Given the description of an element on the screen output the (x, y) to click on. 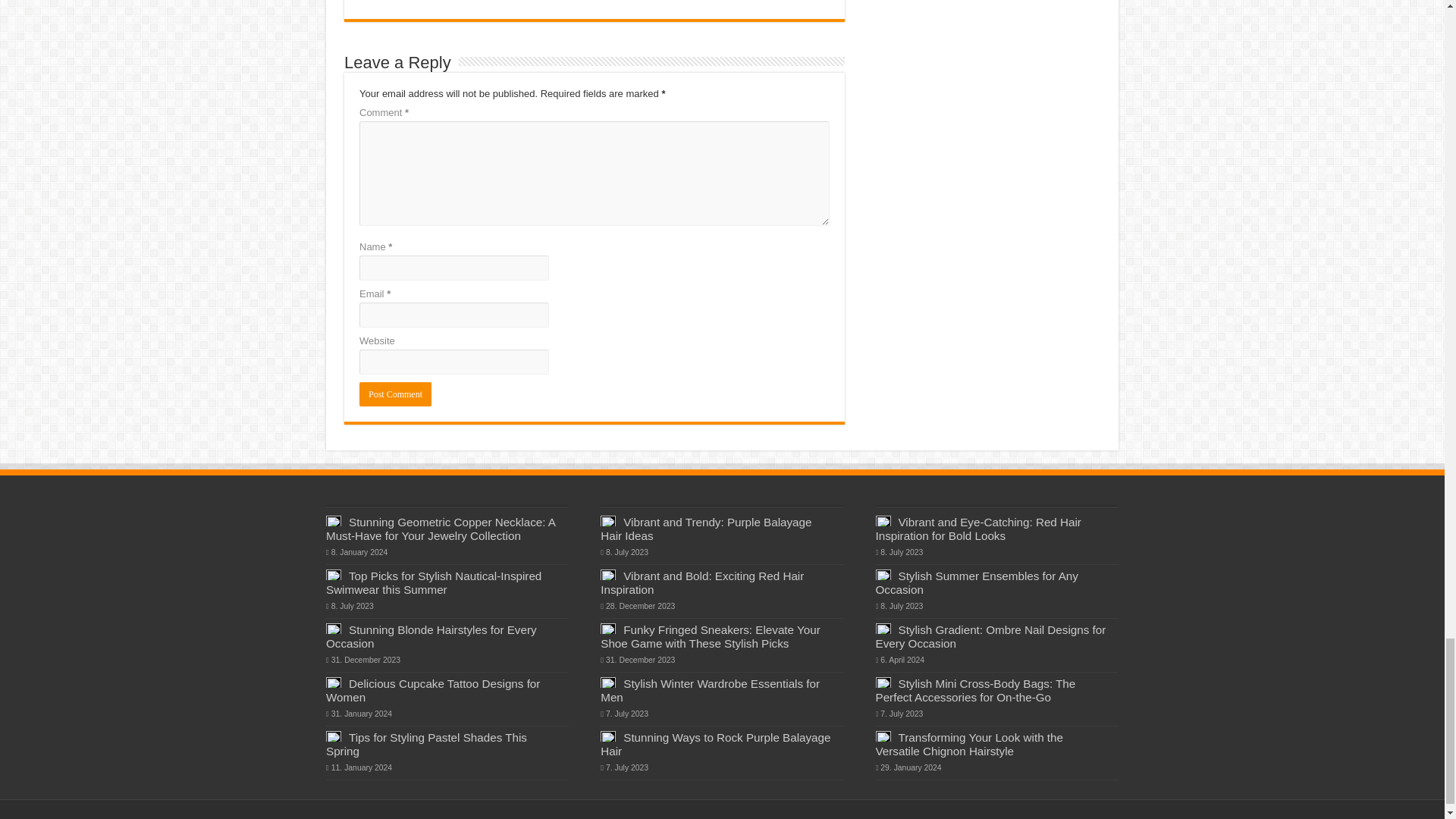
Vibrant and Trendy: Purple Balayage Hair Ideas (704, 528)
Delicious Cupcake Tattoo Designs for Women (433, 690)
Post Comment (394, 394)
Stunning Blonde Hairstyles for Every Occasion (431, 636)
Tips for Styling Pastel Shades This Spring (426, 744)
Post Comment (394, 394)
Top Picks for Stylish Nautical-Inspired Swimwear this Summer (433, 582)
